Given the description of an element on the screen output the (x, y) to click on. 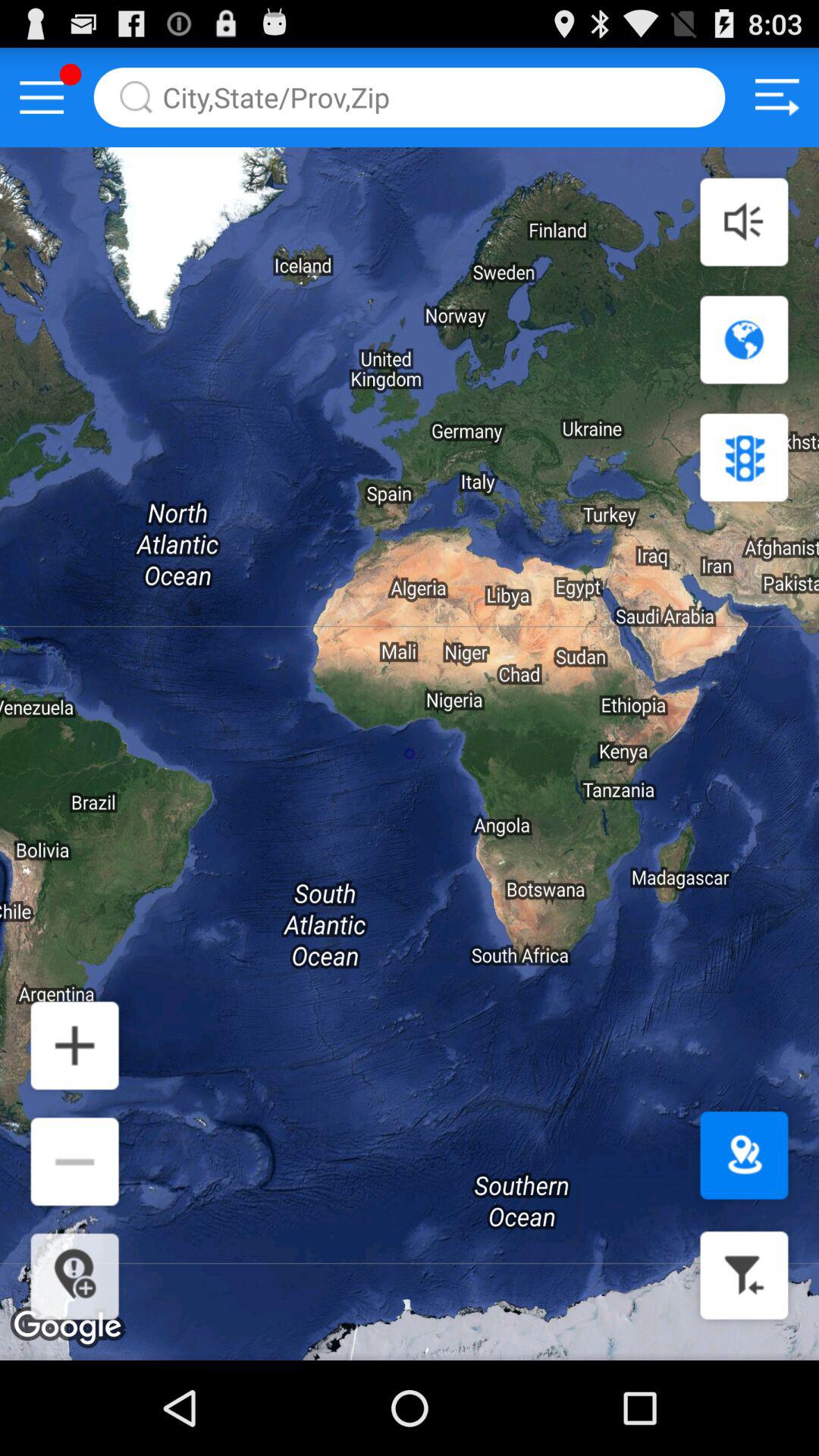
toggle sound (744, 221)
